Given the description of an element on the screen output the (x, y) to click on. 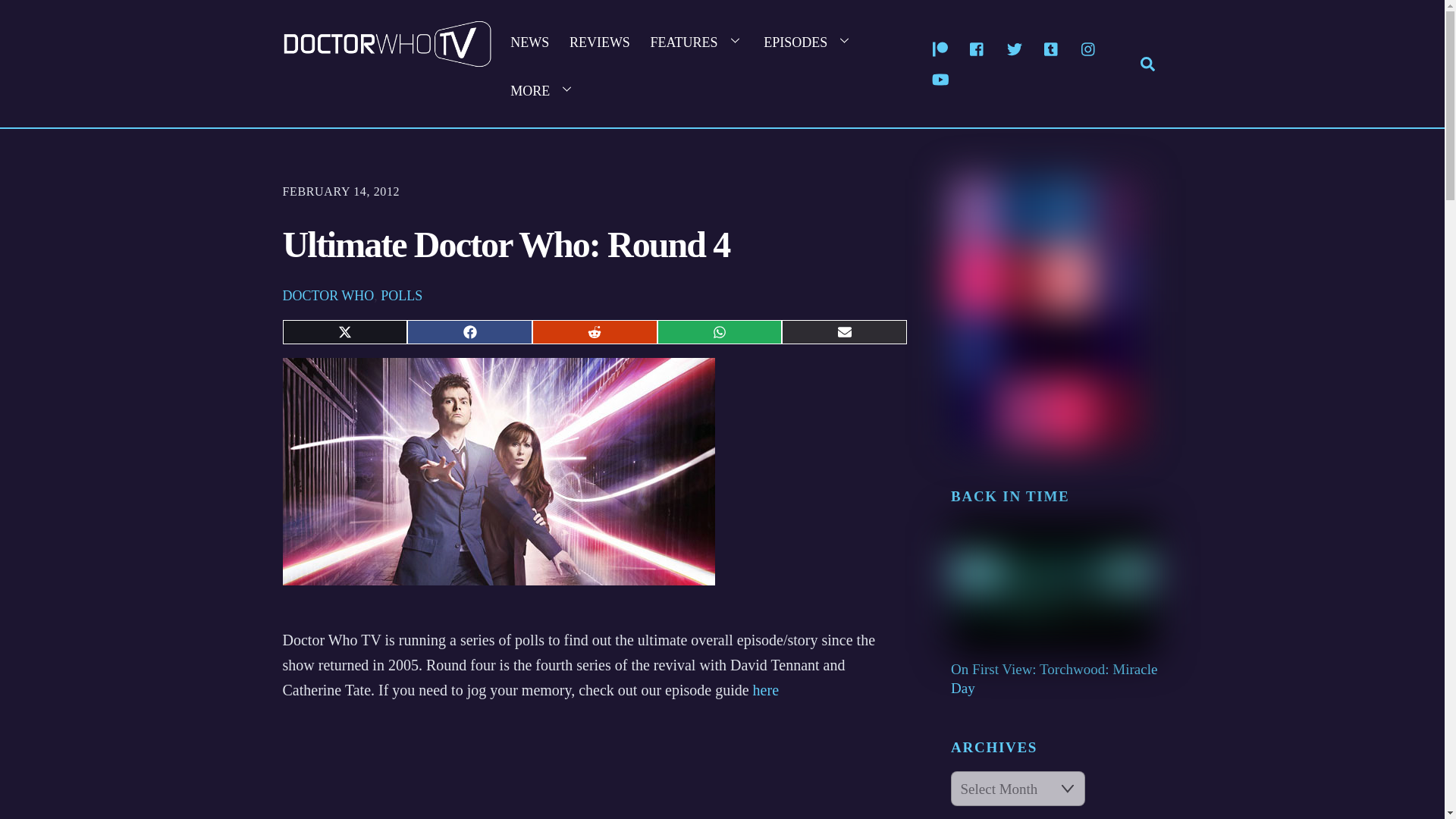
Search (1146, 62)
NEWS (529, 39)
EPISODES (808, 39)
Advertisement (593, 770)
Doctor Who TV (721, 63)
MORE (386, 59)
series4 (542, 87)
FEATURES (498, 471)
REVIEWS (697, 39)
